Given the description of an element on the screen output the (x, y) to click on. 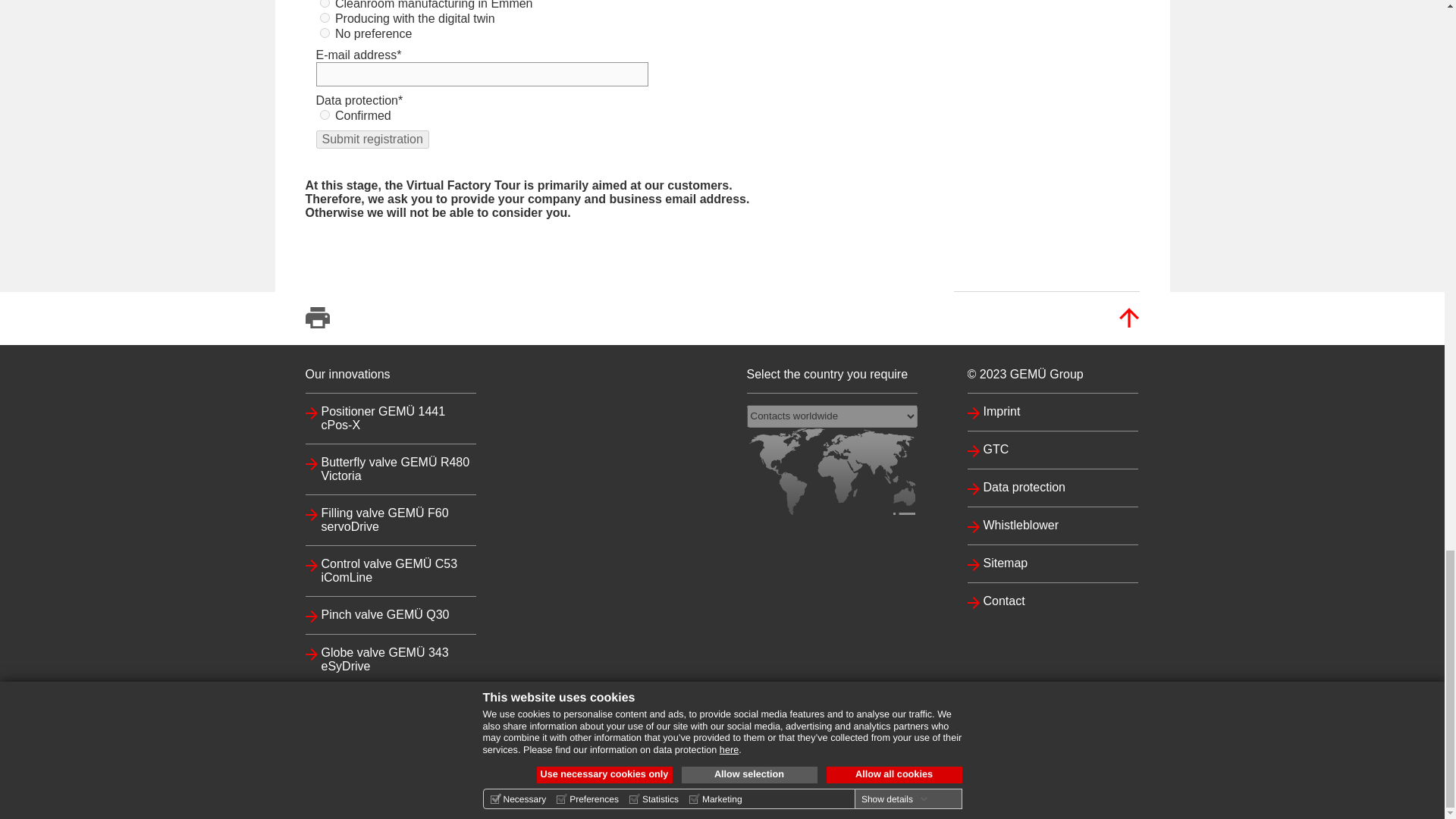
Cleanroom manufacturing in Emmen (325, 3)
Producing with the digital twin (325, 17)
Confirmed (325, 114)
Submit registration (371, 139)
No preference (325, 32)
